Given the description of an element on the screen output the (x, y) to click on. 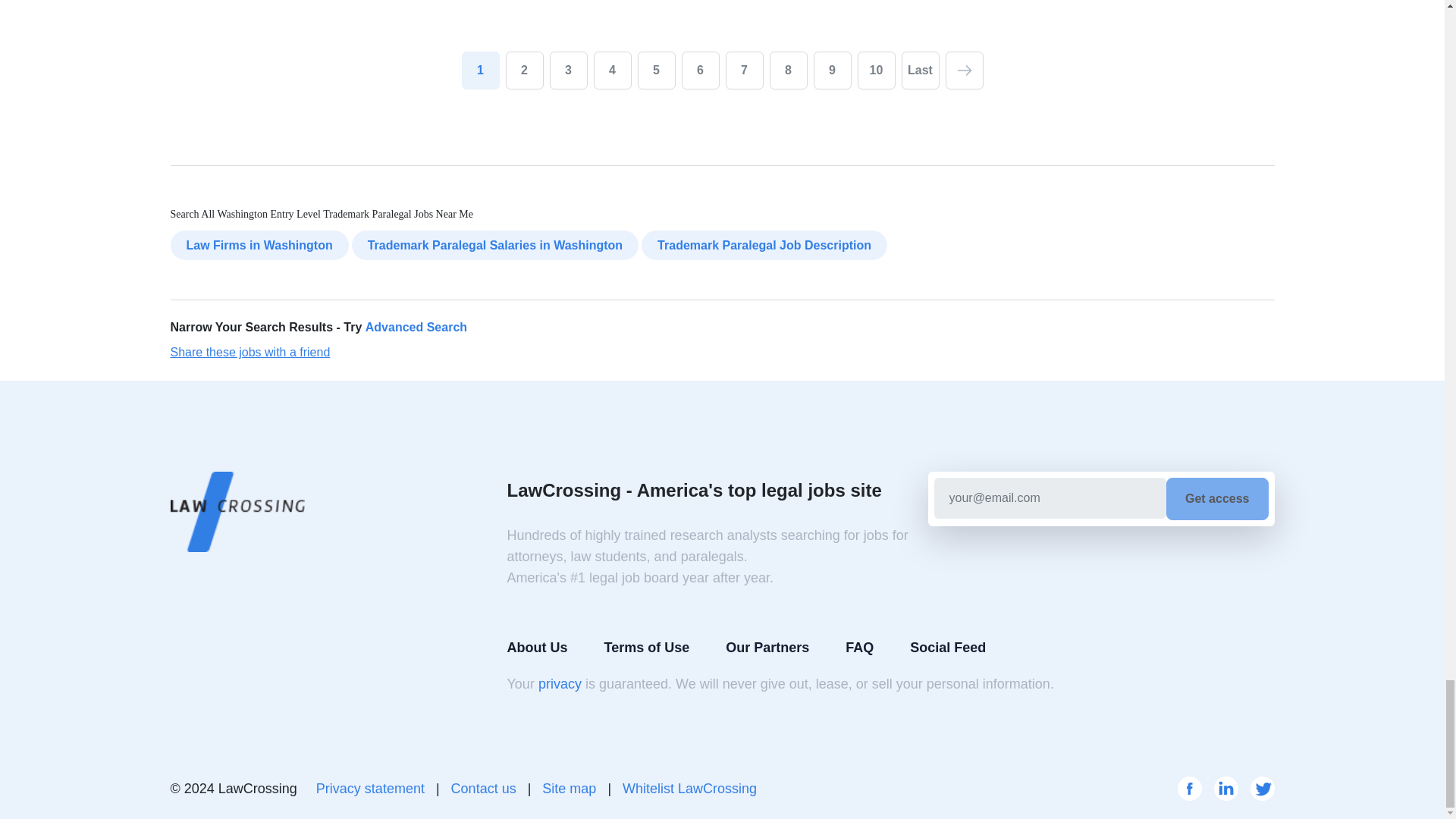
LawCrossing Linkedin (1224, 788)
LawCrossing Facebook (1188, 788)
LawCrossing Twitter (1261, 788)
